Given the description of an element on the screen output the (x, y) to click on. 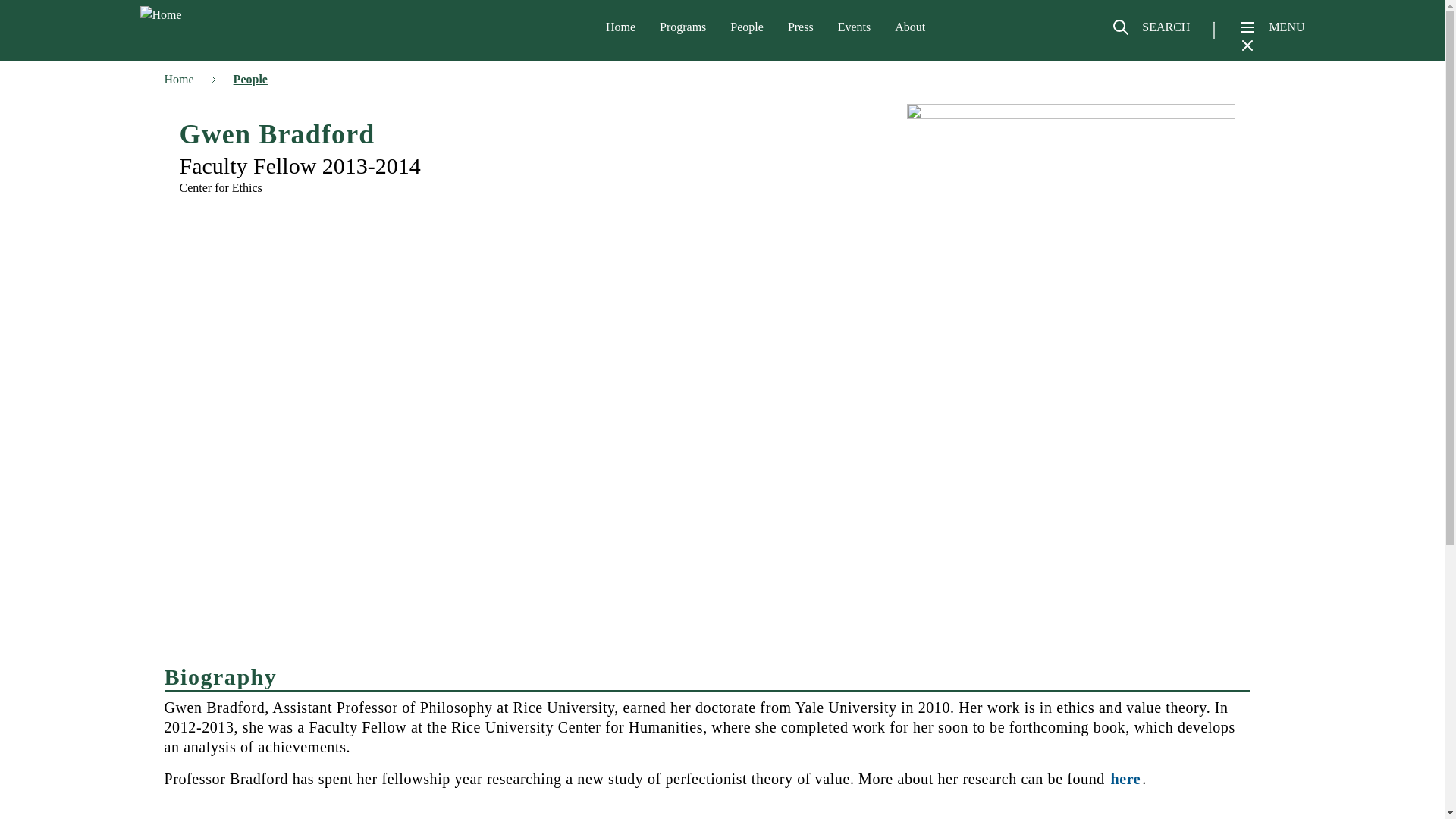
Click to View Gwen Bradford's Profile (1125, 778)
Events (854, 26)
About (909, 26)
SEARCH (1150, 33)
People (746, 26)
Programs (682, 26)
Press (800, 26)
Home (218, 14)
Home (619, 26)
